Given the description of an element on the screen output the (x, y) to click on. 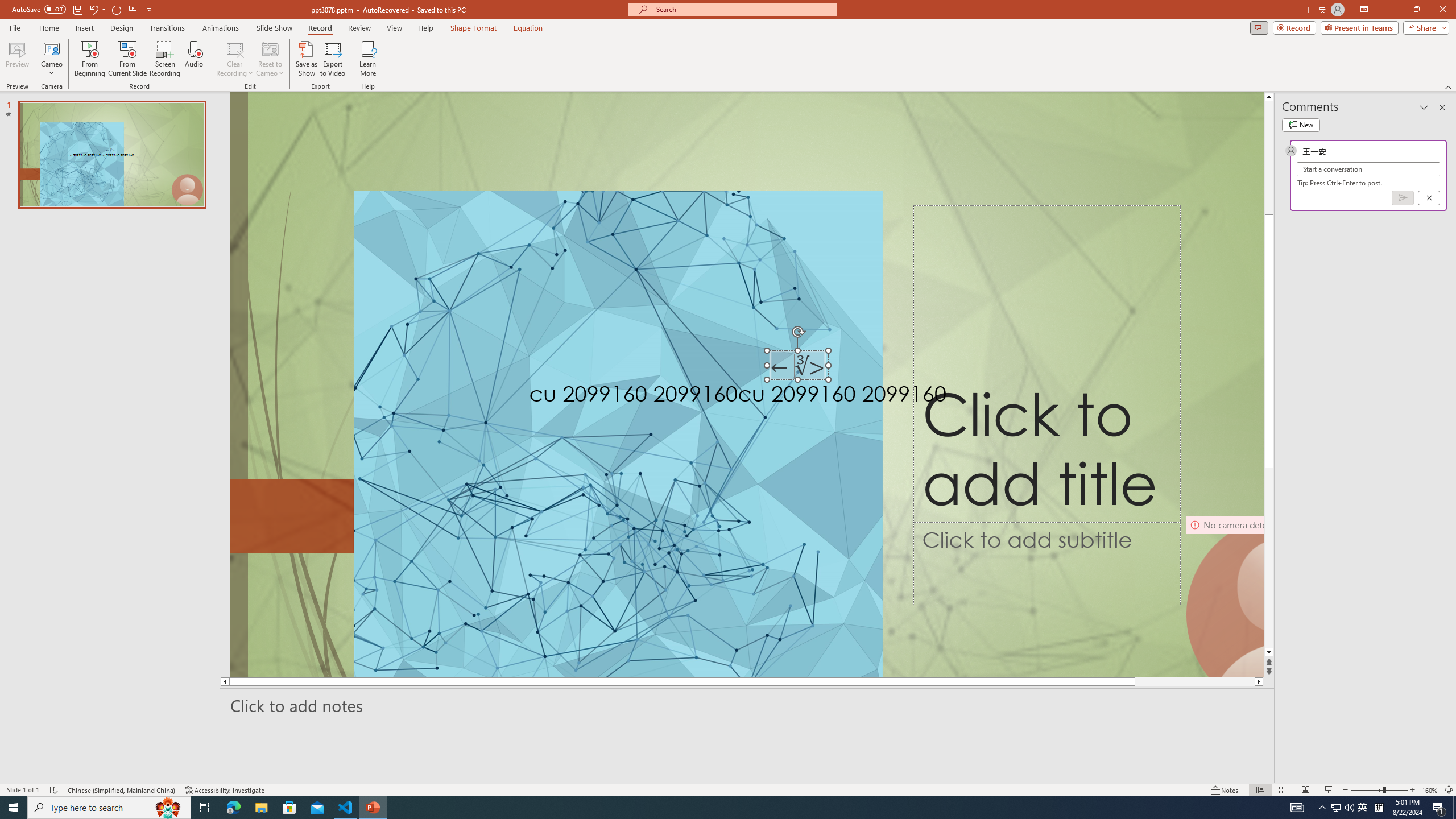
Equation (528, 28)
TextBox 7 (797, 367)
TextBox 61 (807, 396)
Post comment (Ctrl + Enter) (1402, 197)
New comment (1300, 124)
